Given the description of an element on the screen output the (x, y) to click on. 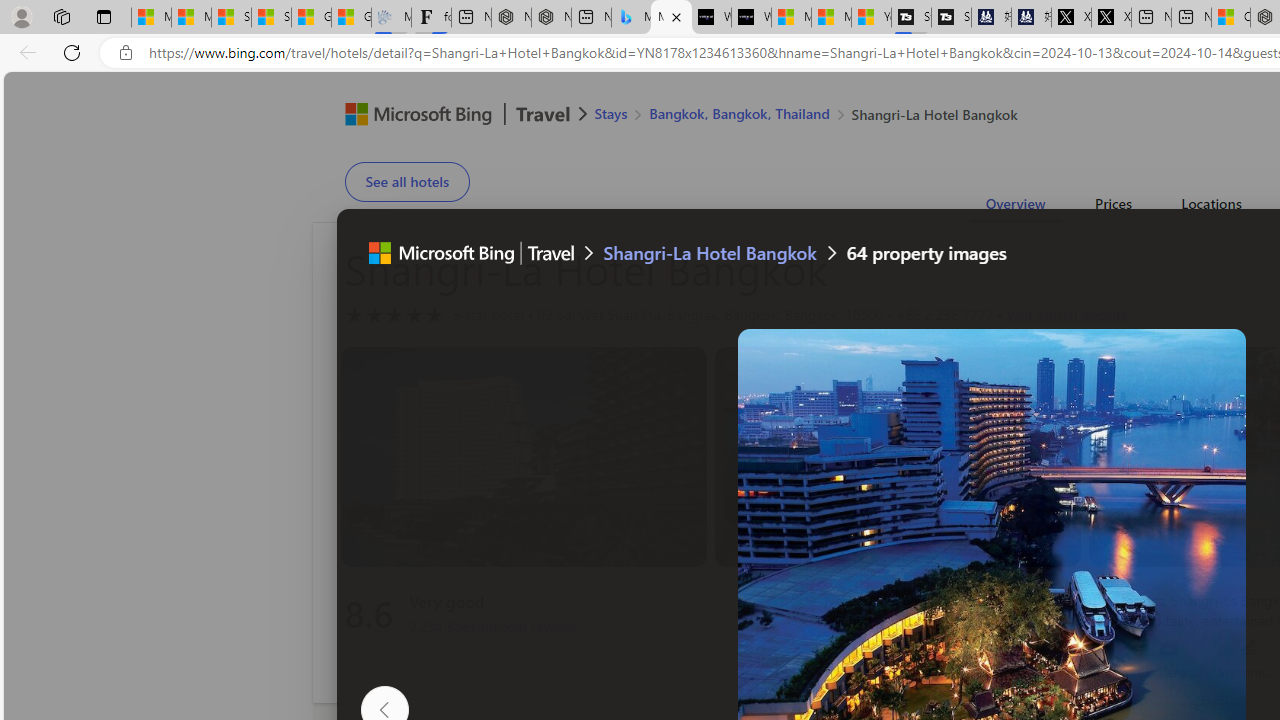
Streaming Coverage | T3 (911, 17)
